Given the description of an element on the screen output the (x, y) to click on. 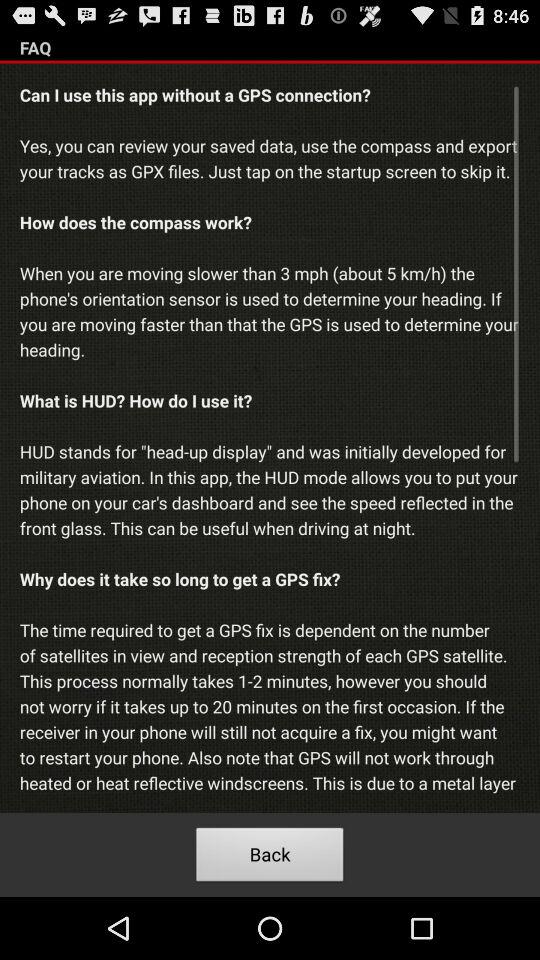
select the back icon (269, 857)
